Given the description of an element on the screen output the (x, y) to click on. 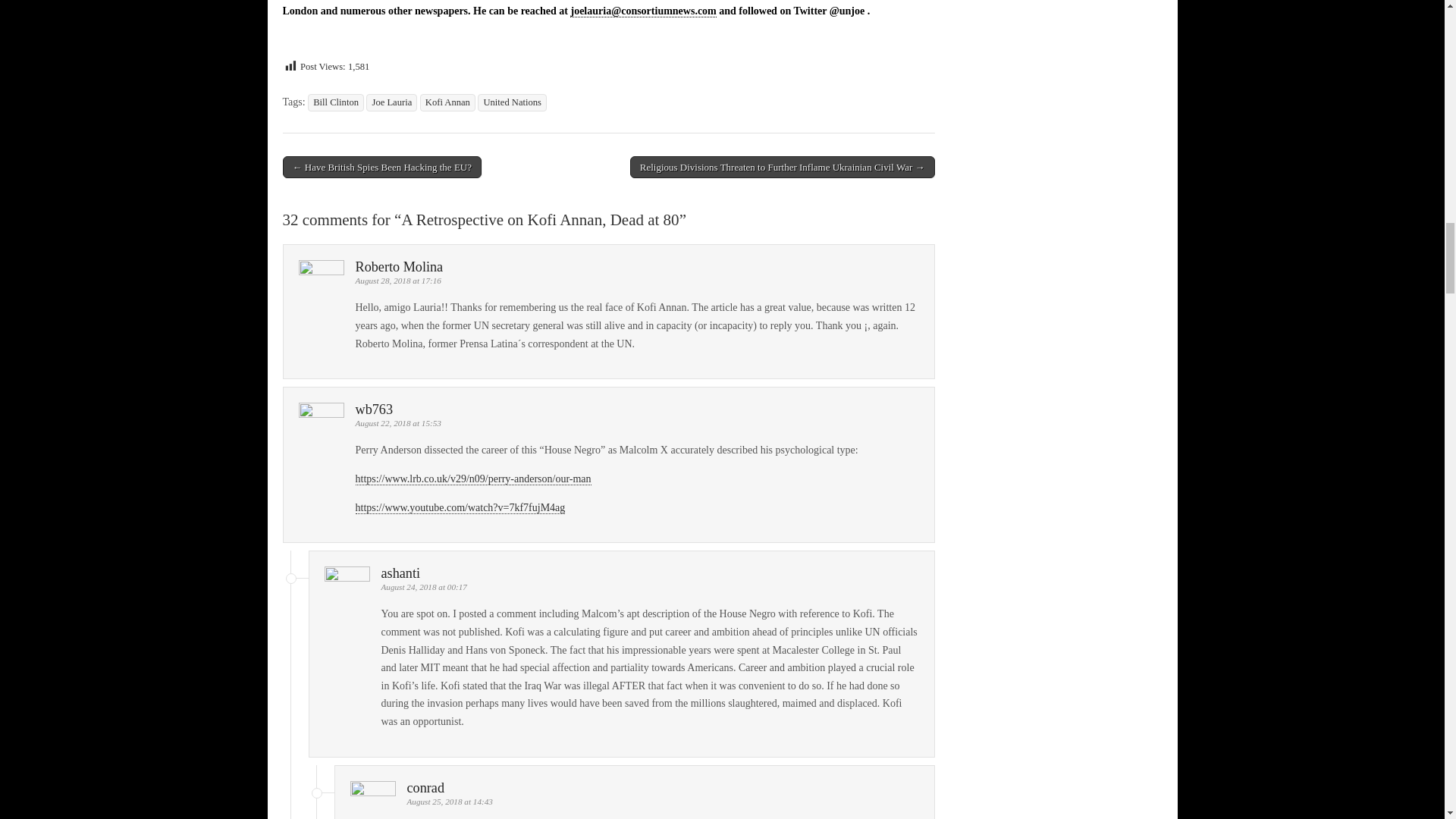
Kofi Annan (448, 102)
United Nations (512, 102)
Joe Lauria (391, 102)
Bill Clinton (335, 102)
